Given the description of an element on the screen output the (x, y) to click on. 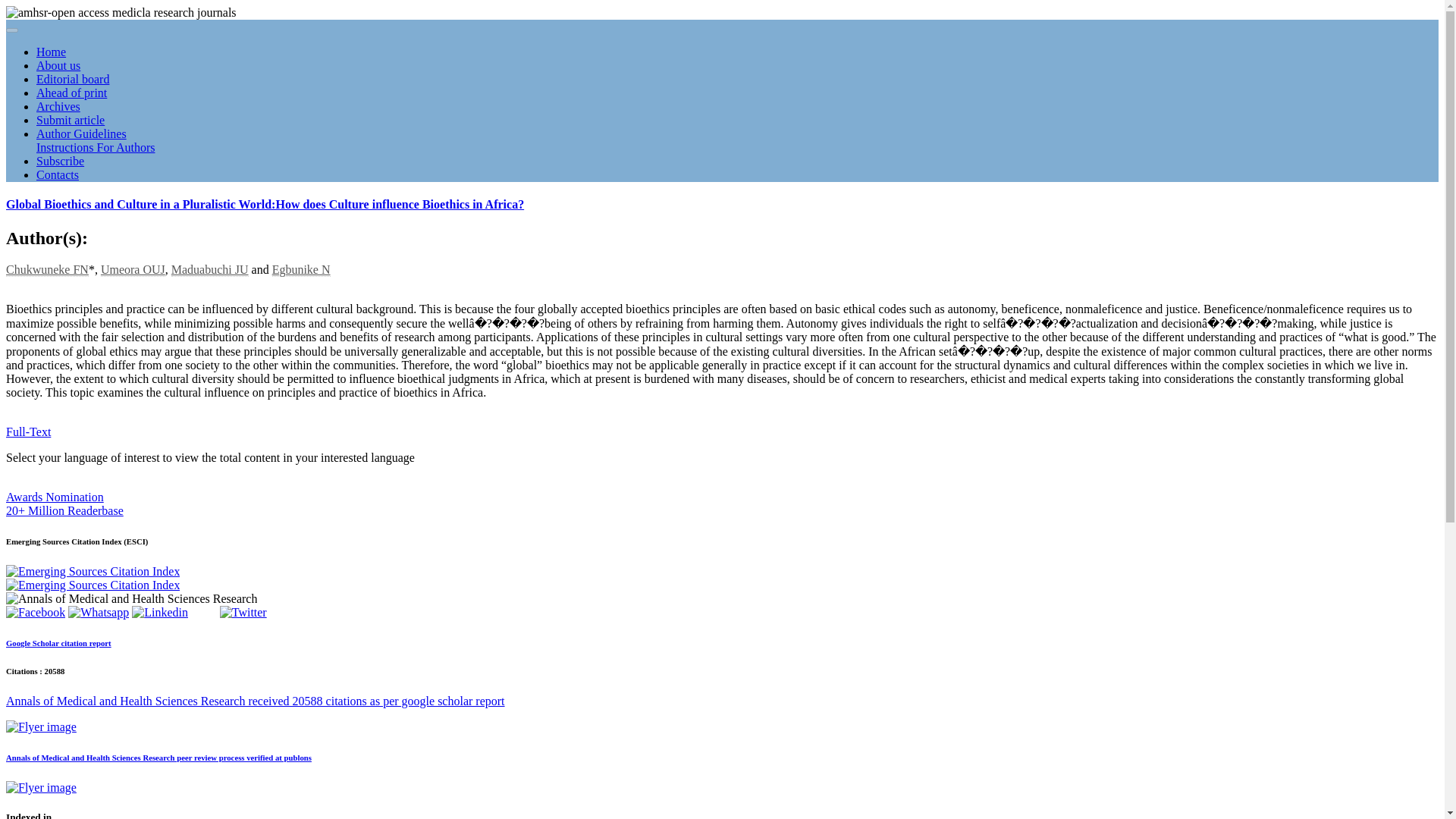
Maduabuchi JU (209, 269)
Chukwuneke FN (46, 269)
About us (58, 65)
Instructions For Authors (95, 146)
Chukwuneke FN (46, 269)
Share This Article (35, 612)
Umeora OUJ (132, 269)
